Given the description of an element on the screen output the (x, y) to click on. 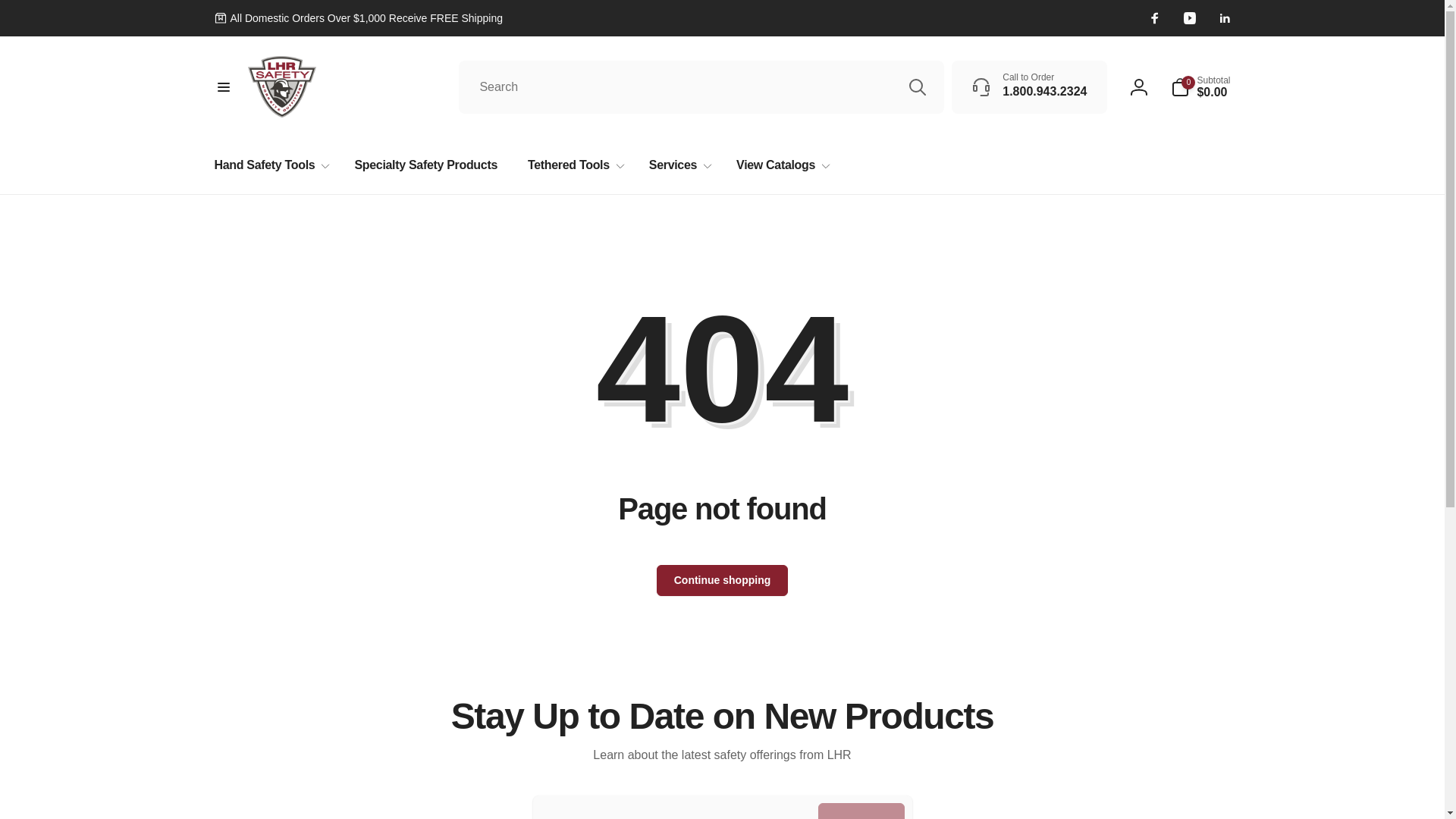
YouTube (1188, 18)
Facebook (1154, 18)
Linkedin (1223, 18)
Skip to content (24, 16)
